Given the description of an element on the screen output the (x, y) to click on. 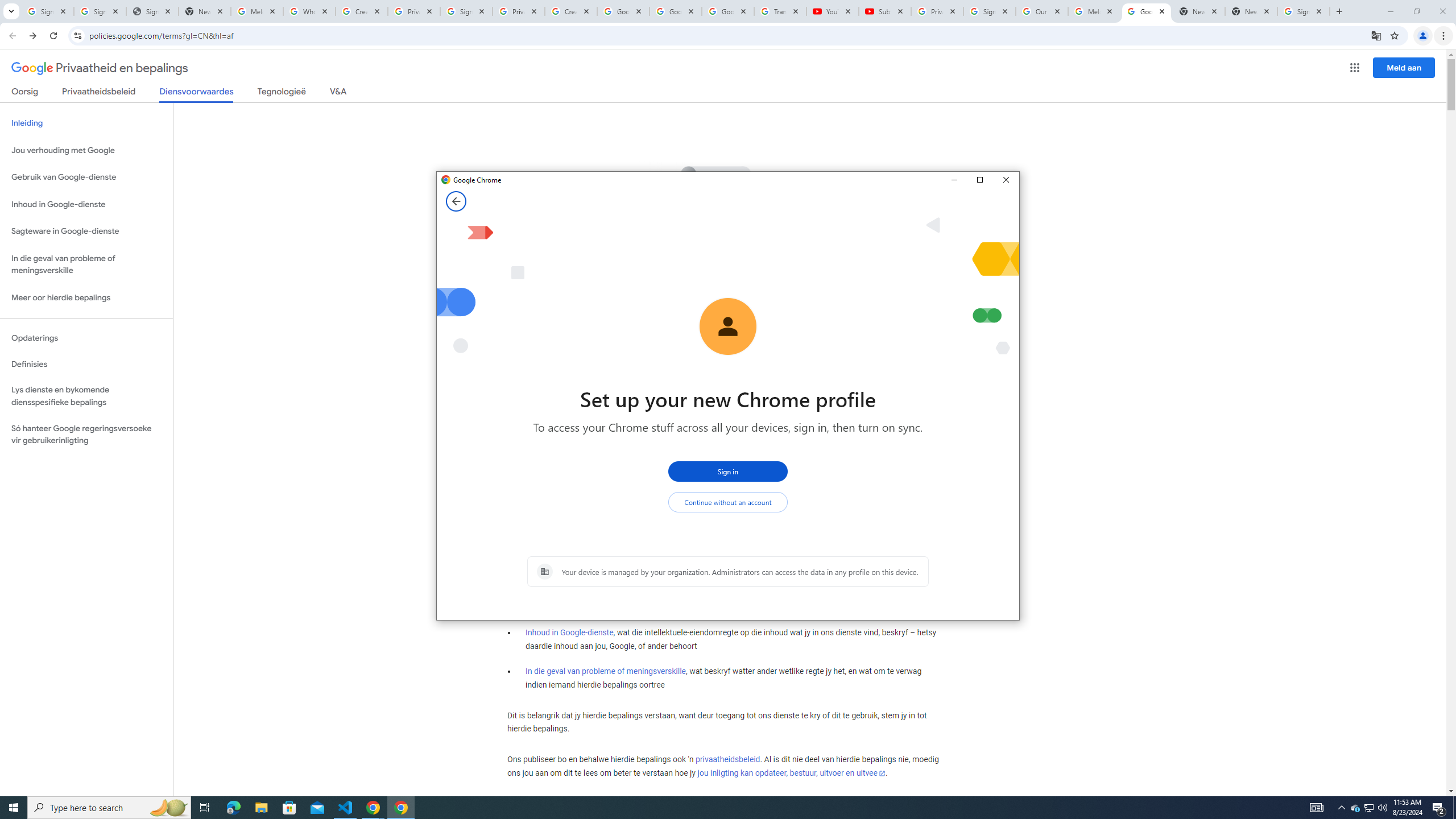
Google-programme (1355, 67)
Who is my administrator? - Google Account Help (309, 11)
Google Account (727, 11)
Inhoud in Google-dienste (568, 632)
Meer oor hierdie bepalings (86, 298)
Meld aan (1404, 67)
Continue without an account (727, 502)
Create your Google Account (361, 11)
Inleiding (86, 122)
Running applications (717, 807)
Maximize (979, 180)
